Given the description of an element on the screen output the (x, y) to click on. 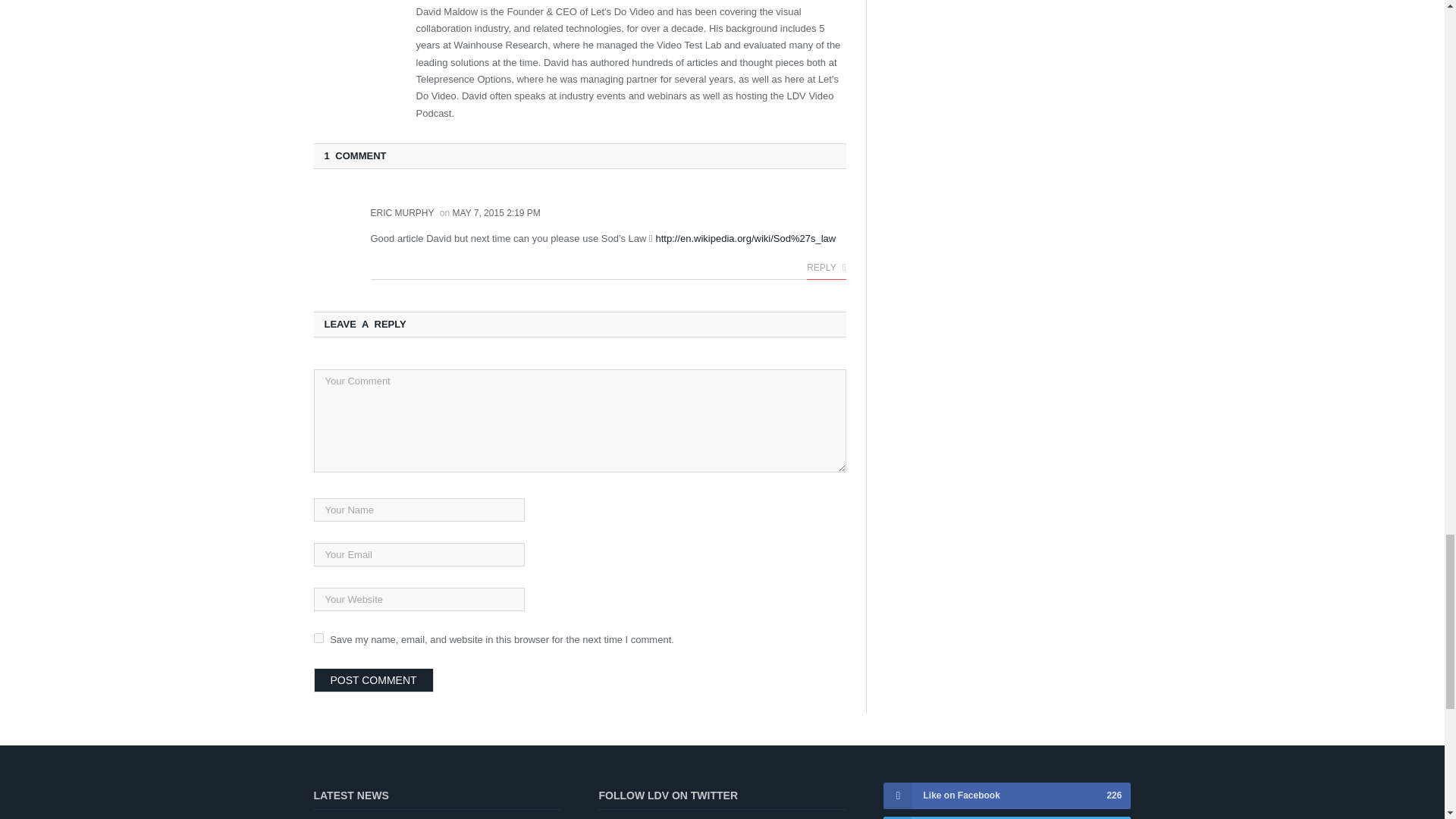
yes (318, 637)
Post Comment (373, 680)
